Given the description of an element on the screen output the (x, y) to click on. 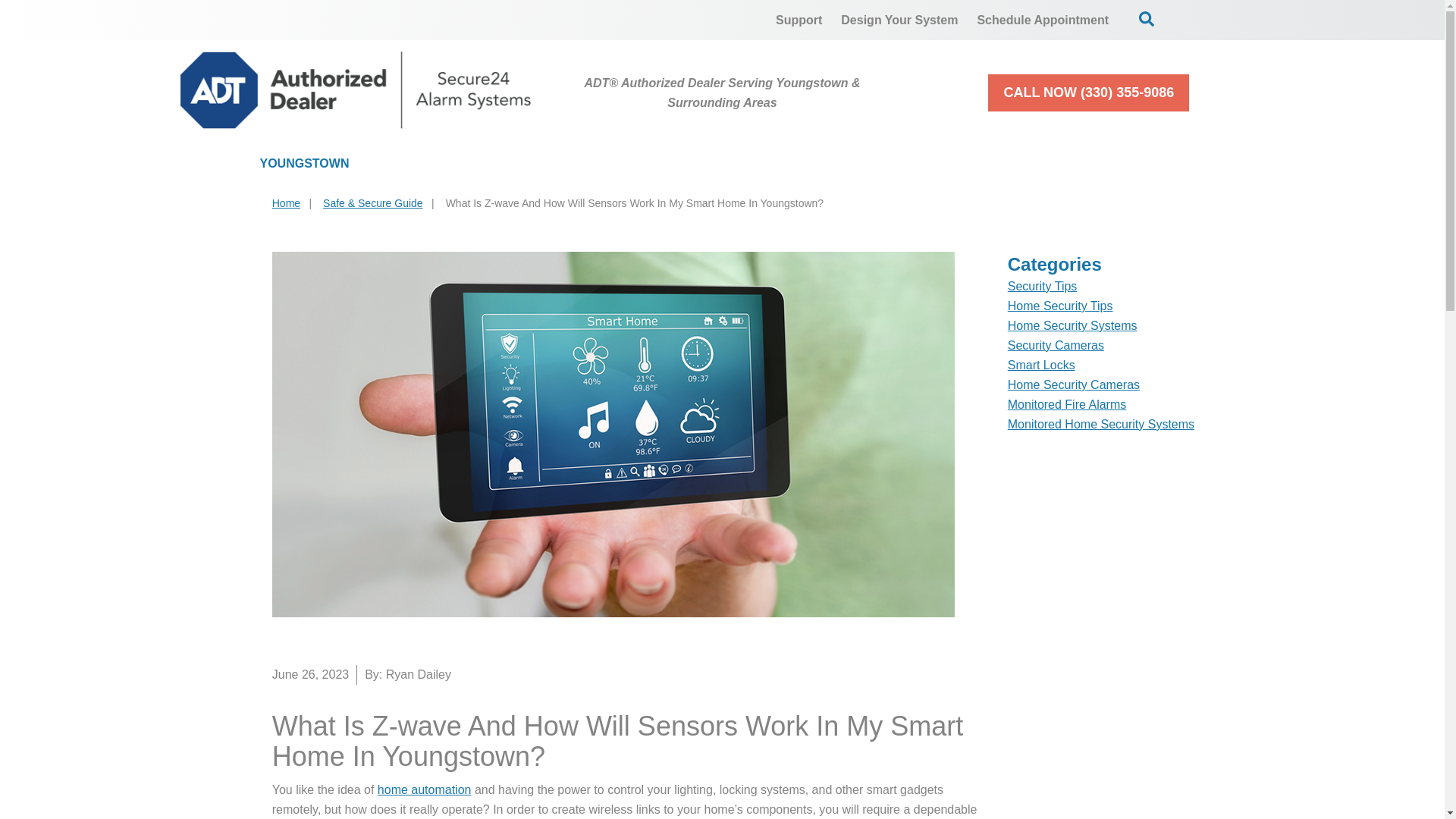
Expand Menu (639, 163)
Home automation in Youngstown (424, 789)
Design Your System (898, 20)
Expand Menu (1169, 163)
Cameras (605, 163)
Home Automation (761, 163)
Secure24 Alarm Systems Home (355, 89)
Expand Menu (820, 163)
Expand Menu (510, 163)
Schedule Appointment (1042, 20)
Home Security (461, 163)
Open Search (1146, 18)
Support (798, 20)
Expand Menu (972, 163)
